Given the description of an element on the screen output the (x, y) to click on. 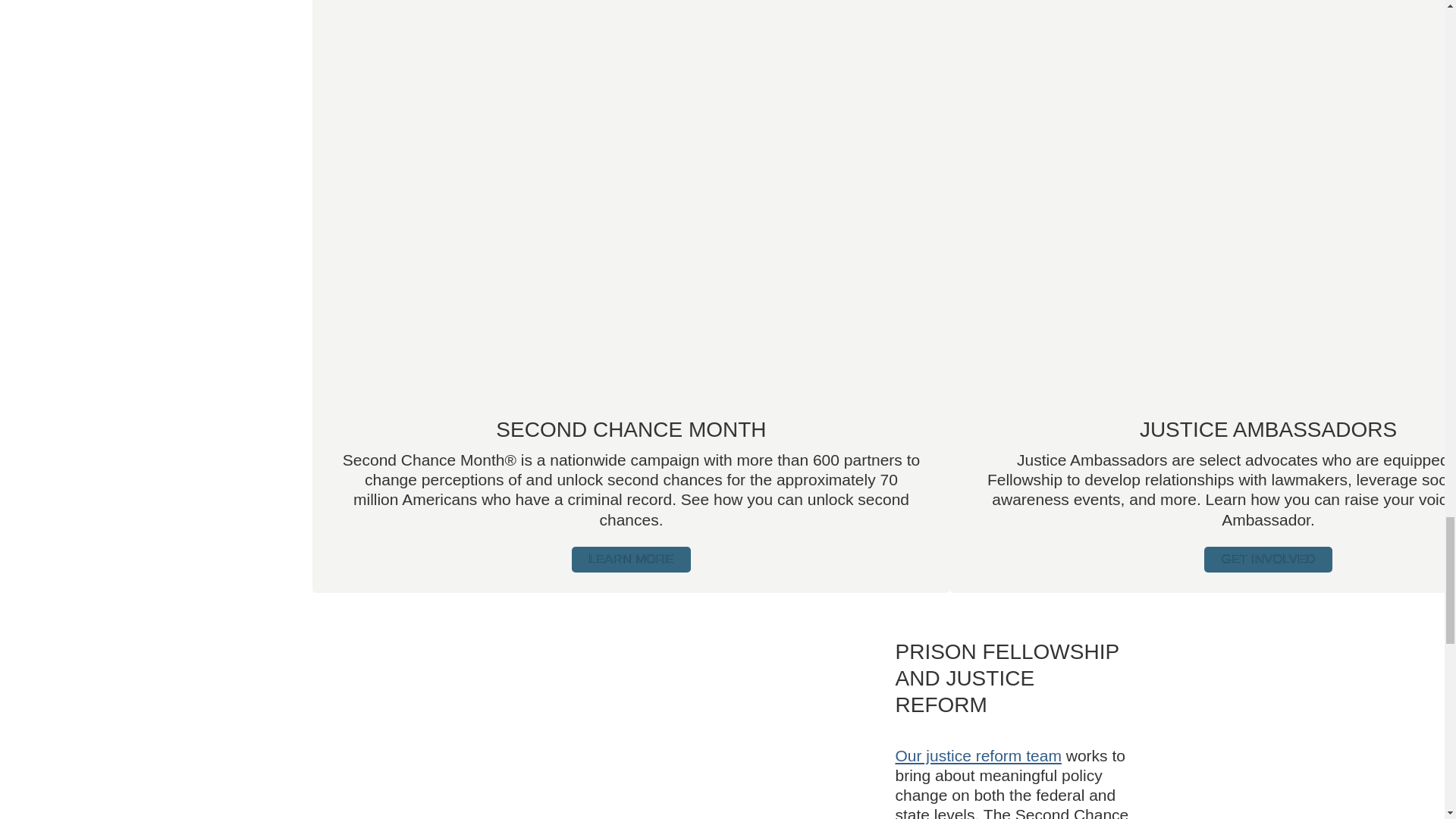
James at FAMM Rally-min (604, 728)
